Given the description of an element on the screen output the (x, y) to click on. 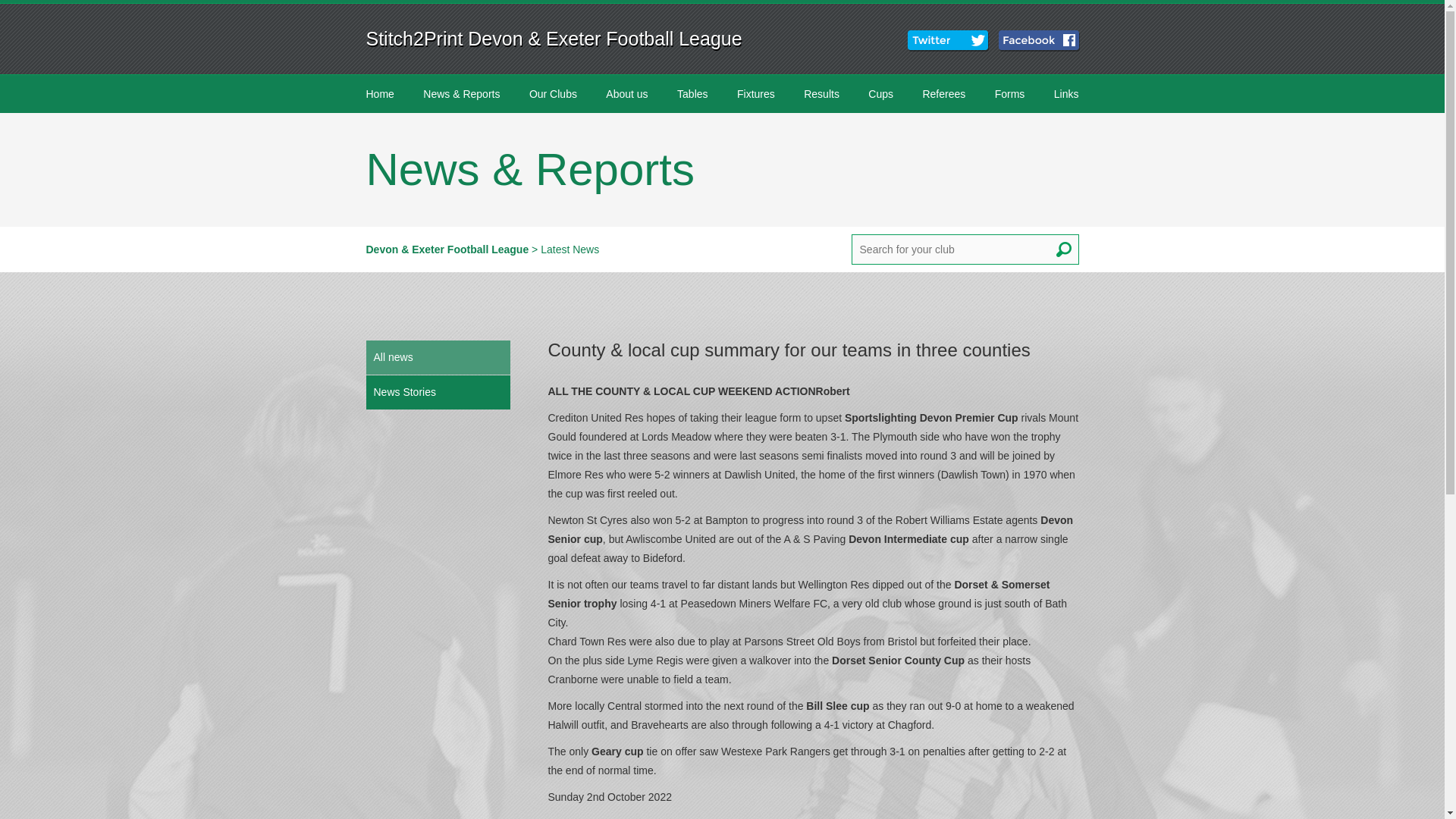
Facebook (1039, 41)
Tables (691, 94)
Home (379, 94)
Twitter (949, 41)
Our Clubs (553, 94)
About us (626, 94)
Results (821, 94)
Search (1063, 249)
Fixtures (756, 94)
